Given the description of an element on the screen output the (x, y) to click on. 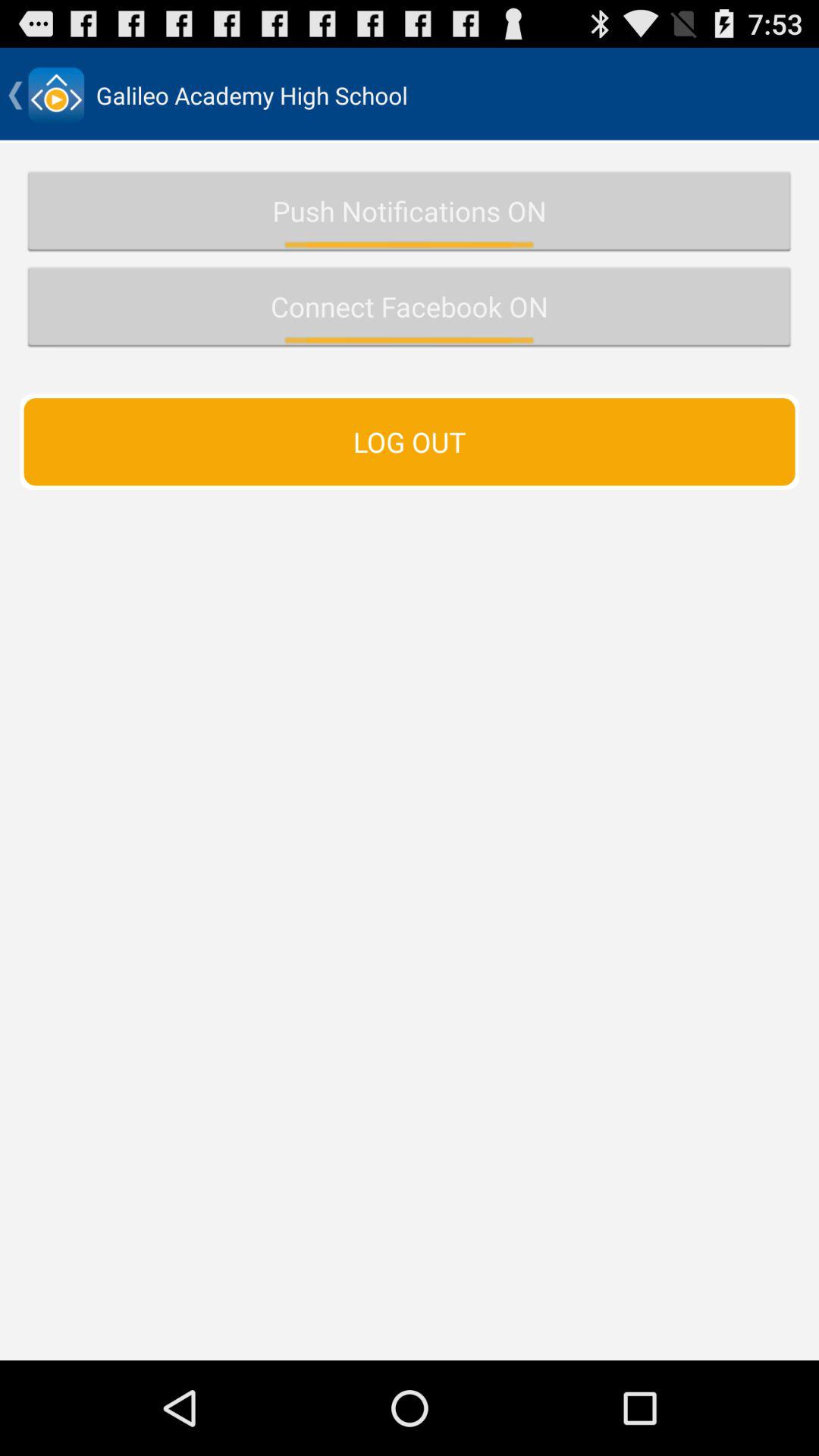
flip until push notifications on item (409, 210)
